Given the description of an element on the screen output the (x, y) to click on. 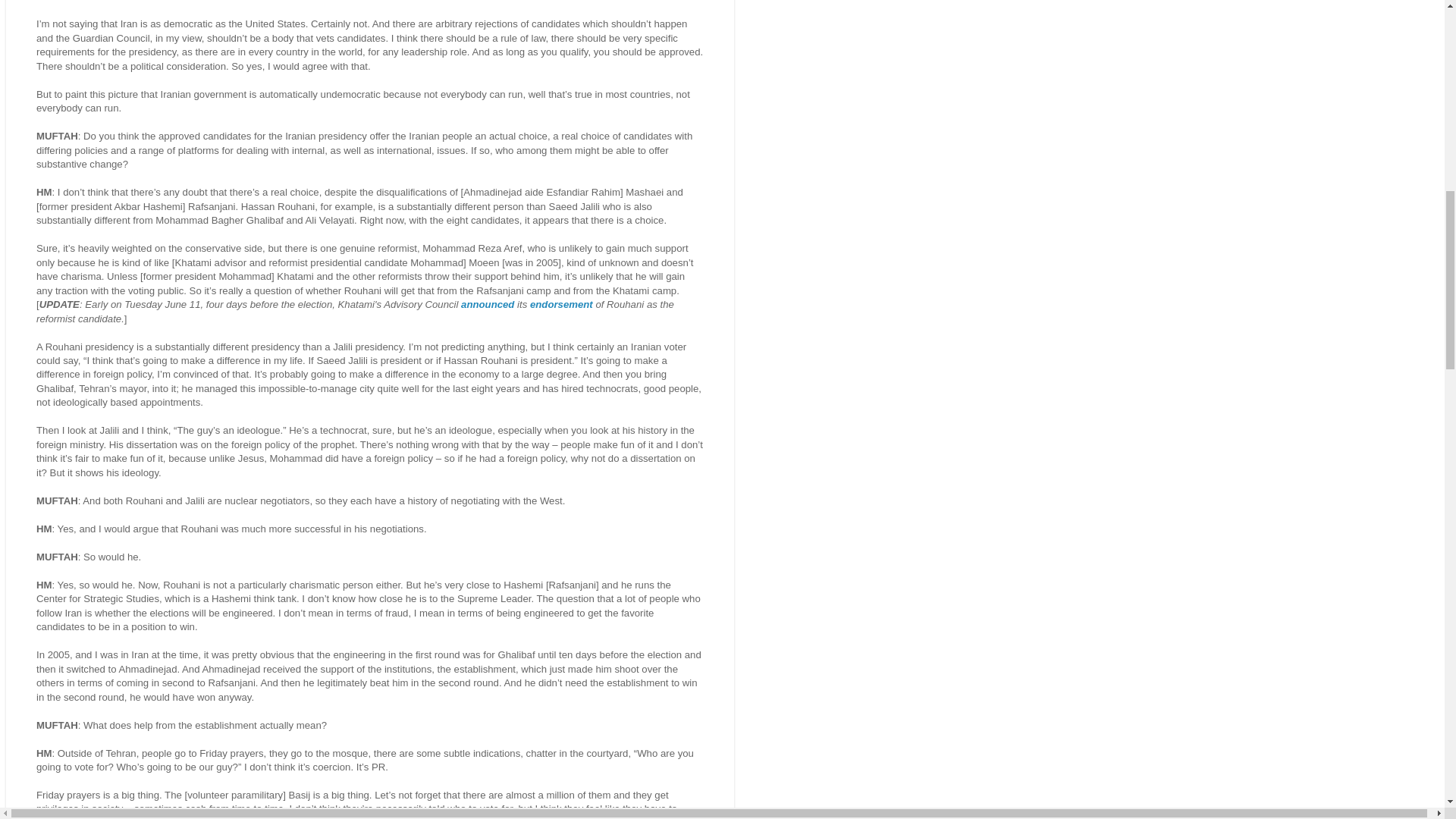
endorsement (560, 304)
announced (487, 304)
